Given the description of an element on the screen output the (x, y) to click on. 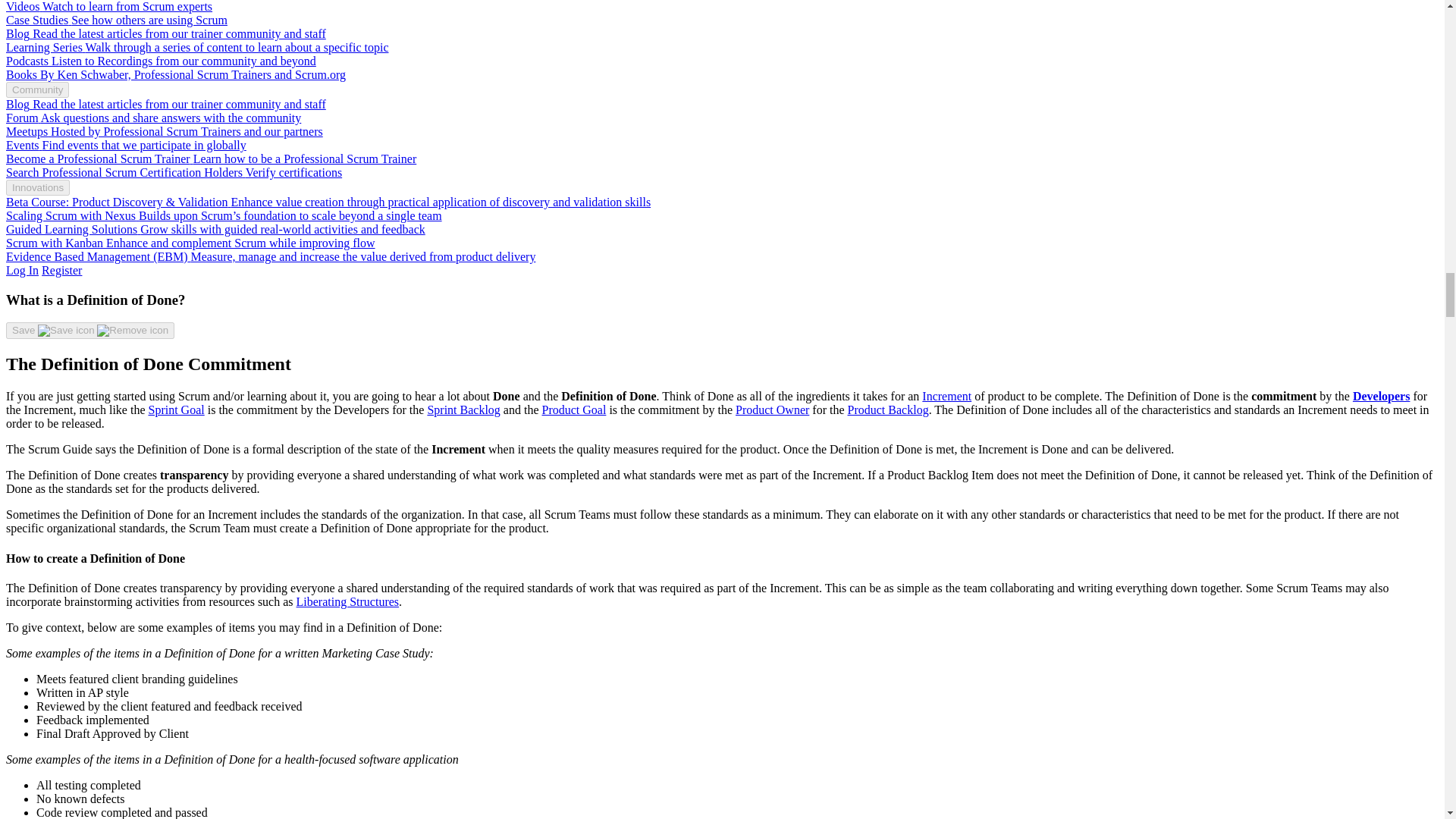
What is a Product Goal? (573, 409)
What is a Product Owner? (772, 409)
What is a Sprint Backlog? (462, 409)
What is a Product Backlog? (887, 409)
What is a Sprint Goal? (175, 409)
What is an Increment? (946, 395)
